Given the description of an element on the screen output the (x, y) to click on. 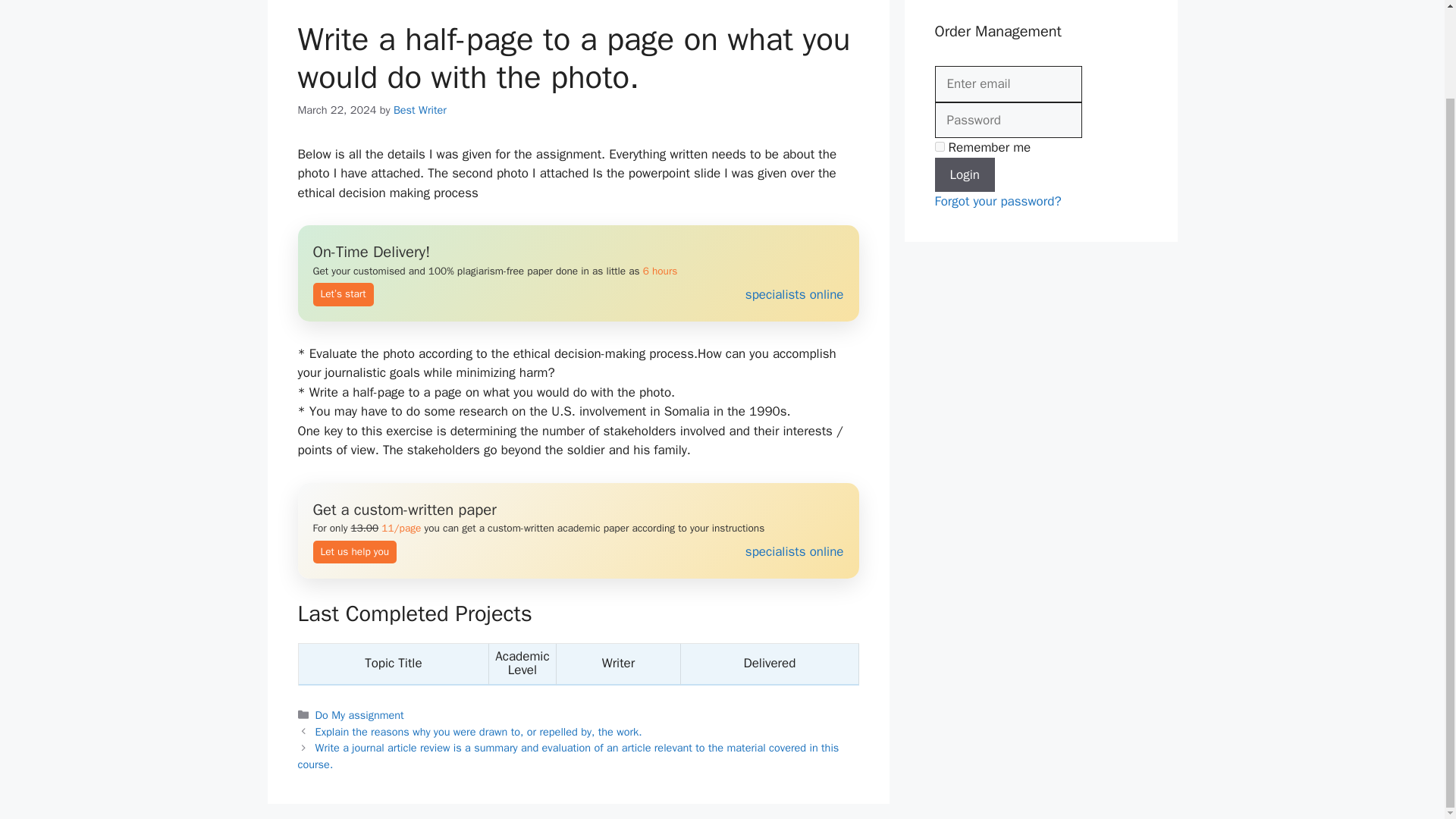
Forgot your password? (997, 201)
View all posts by Best Writer (419, 110)
click to Login (964, 174)
Best Writer (419, 110)
Recover password (997, 201)
Do My assignment (359, 714)
on (938, 146)
Login (964, 174)
